Given the description of an element on the screen output the (x, y) to click on. 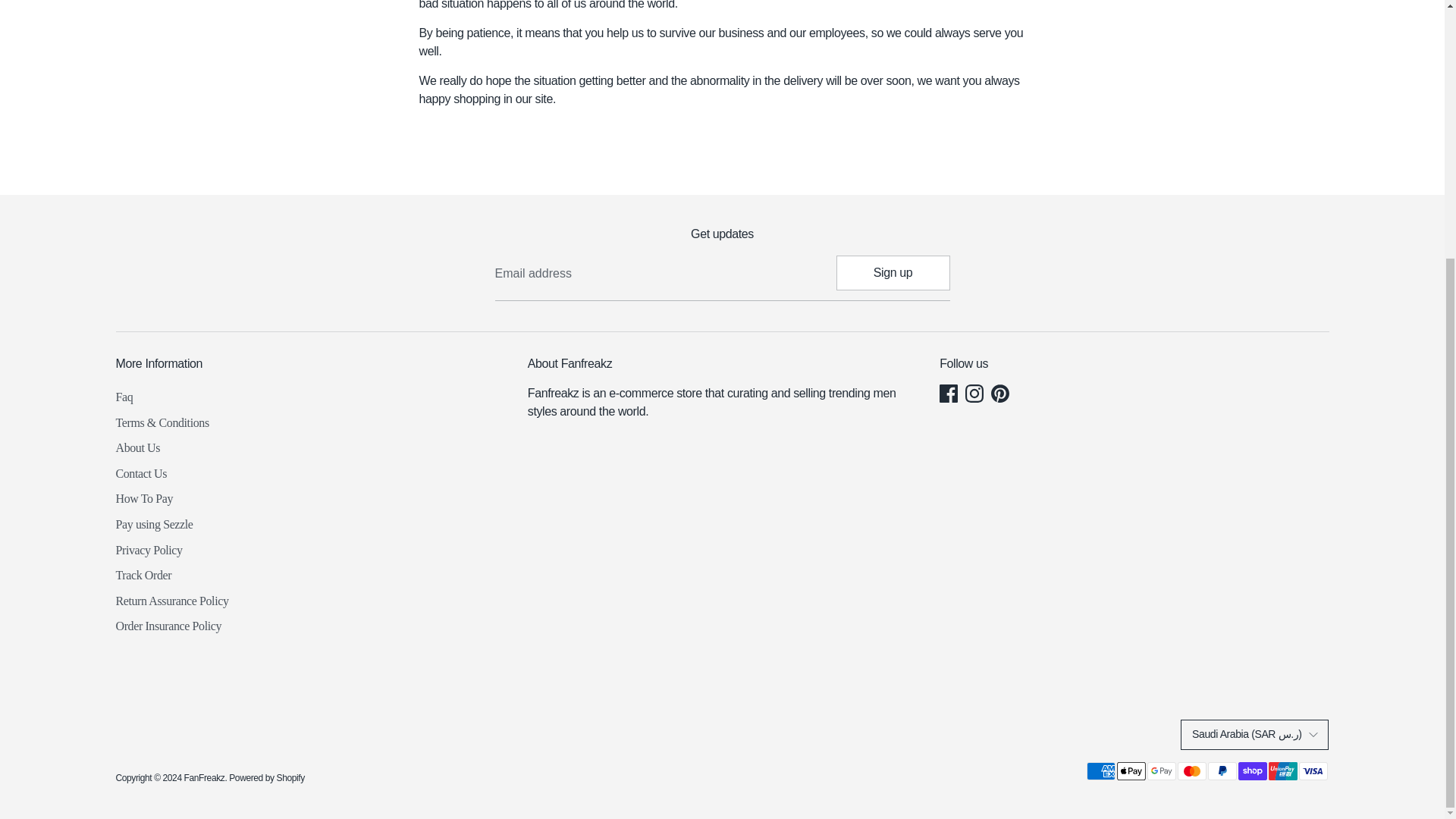
Mastercard (1190, 771)
PayPal (1221, 771)
Google Pay (1160, 771)
Apple Pay (1130, 771)
American Express (1100, 771)
